Given the description of an element on the screen output the (x, y) to click on. 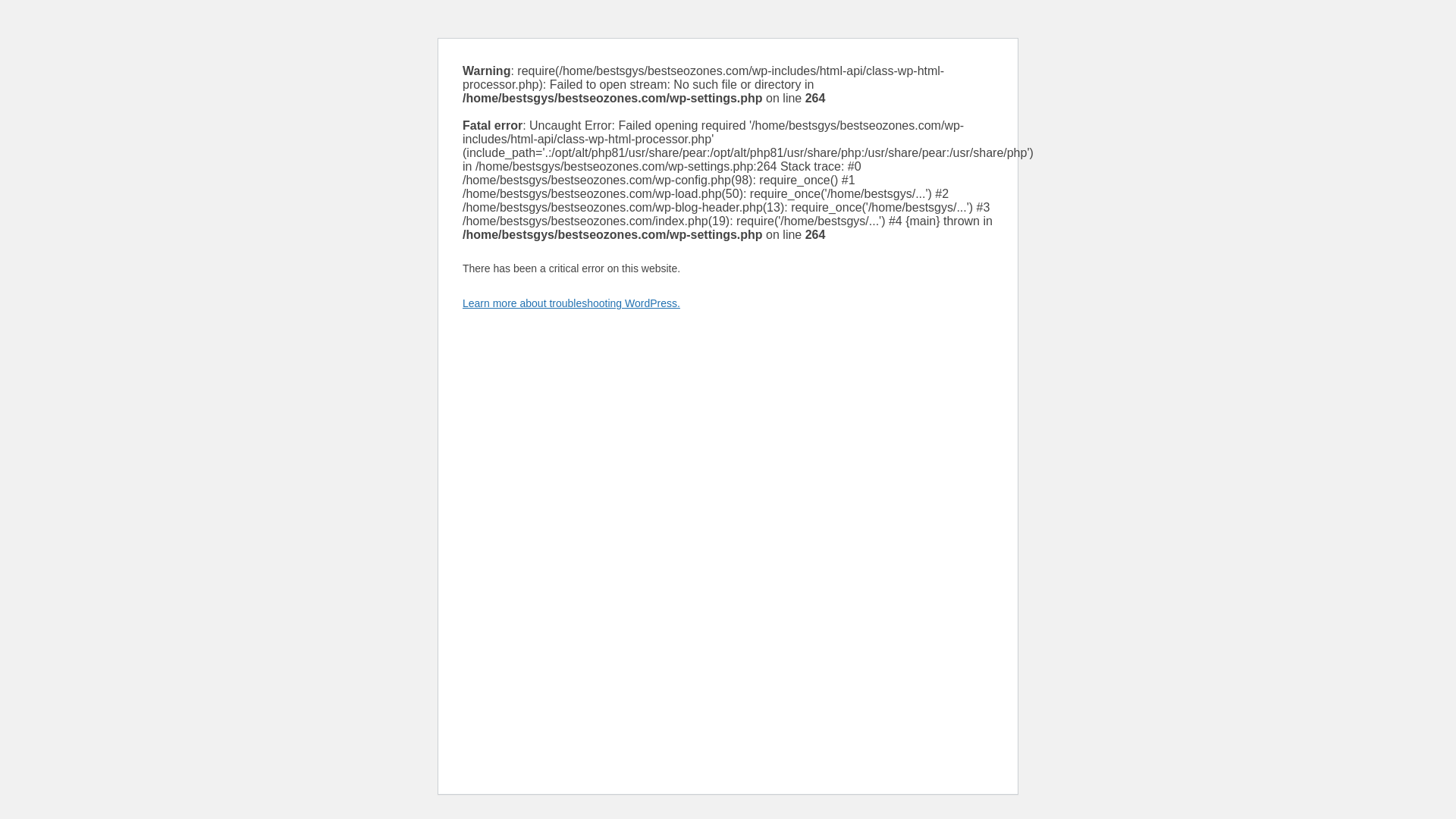
Learn more about troubleshooting WordPress. (571, 303)
